Given the description of an element on the screen output the (x, y) to click on. 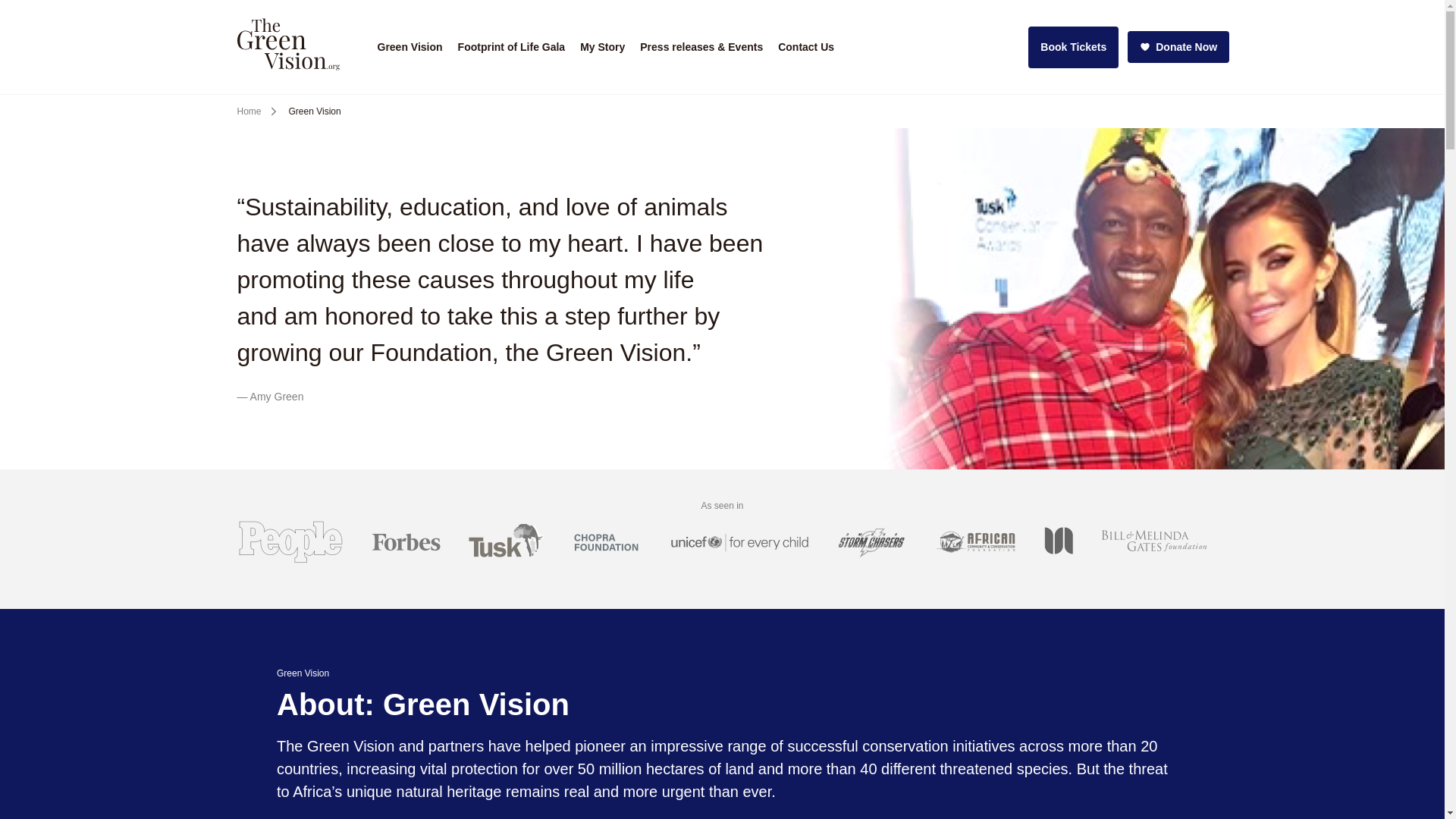
Footprint of Life Gala (511, 46)
My Story (601, 46)
Home (247, 110)
Donate Now (1177, 47)
Book Tickets (1072, 46)
Contact Us (805, 46)
Green Vision (409, 46)
